Given the description of an element on the screen output the (x, y) to click on. 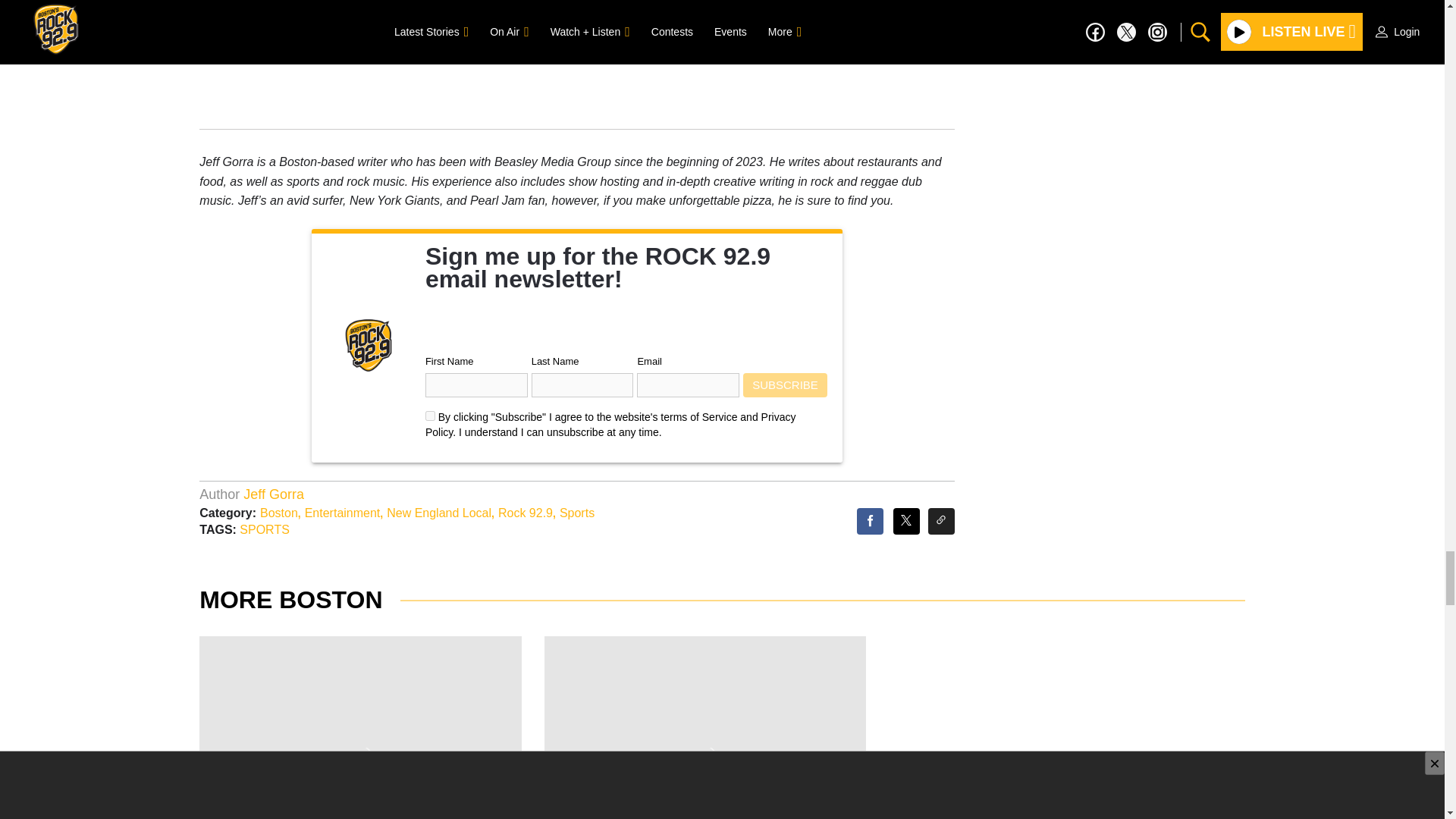
Jeff Gorra (273, 494)
on (430, 415)
